Given the description of an element on the screen output the (x, y) to click on. 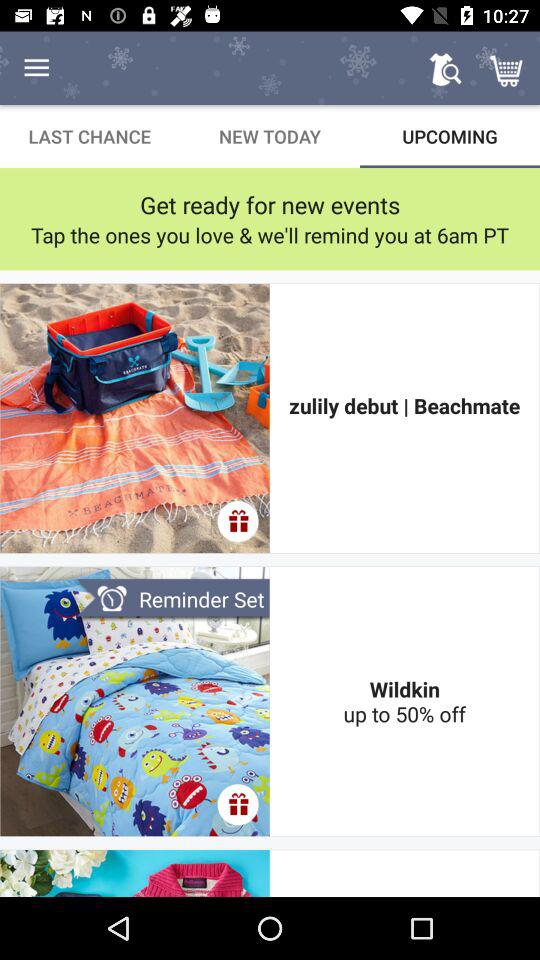
launch icon above upcoming item (444, 67)
